Given the description of an element on the screen output the (x, y) to click on. 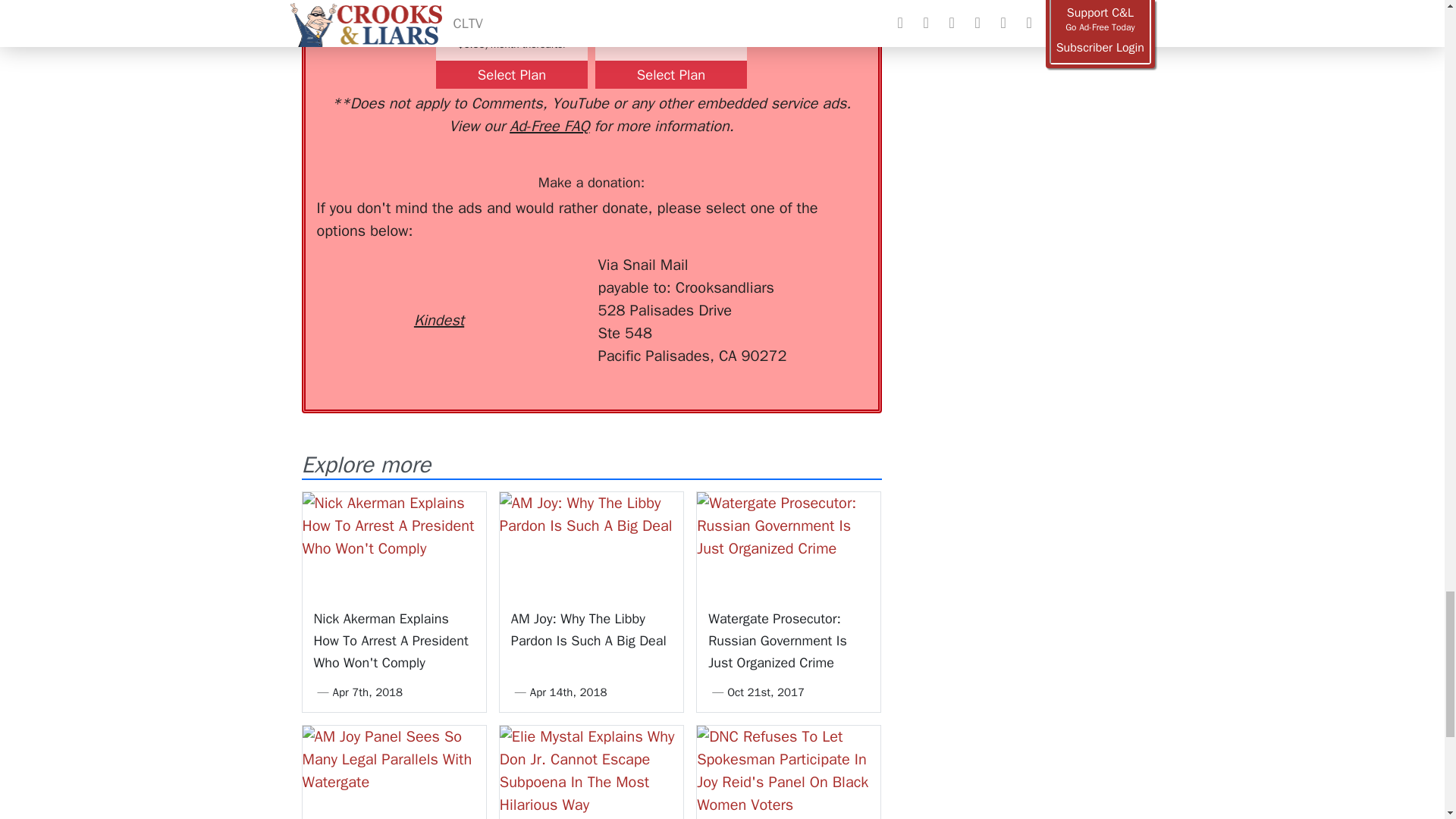
Donate via PayPal (540, 281)
Donate via PayPal (540, 281)
Donate via Kindest (438, 292)
Kindest (438, 292)
Ad-Free FAQ (549, 126)
